Given the description of an element on the screen output the (x, y) to click on. 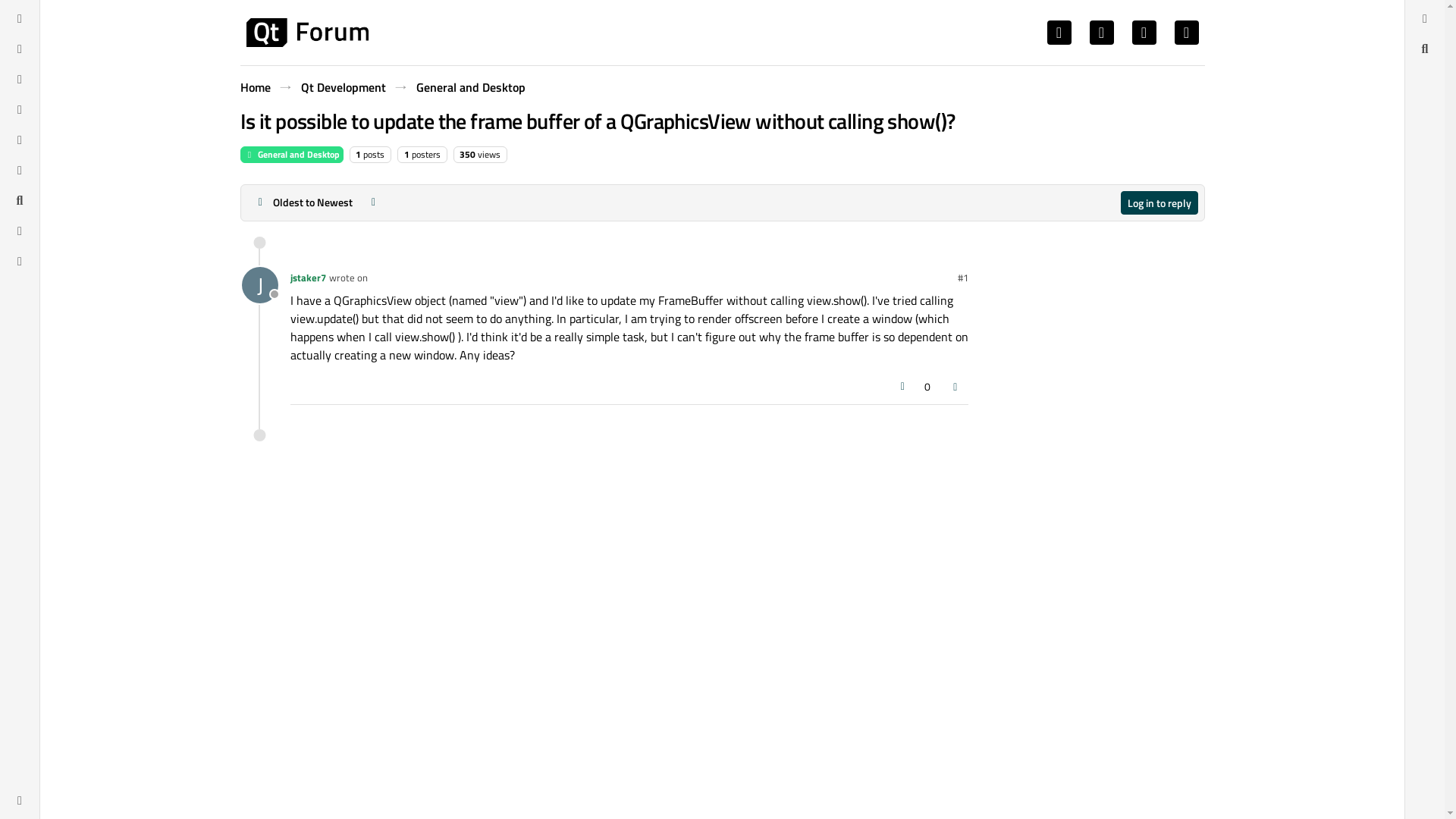
350 (468, 154)
jstaker7 (306, 277)
Tags (19, 78)
Oldest to Newest (303, 201)
Qt Development (342, 86)
Unsolved (19, 260)
General and Desktop (469, 86)
Brand Logo (307, 32)
Recent (19, 48)
General and Desktop (291, 154)
